Given the description of an element on the screen output the (x, y) to click on. 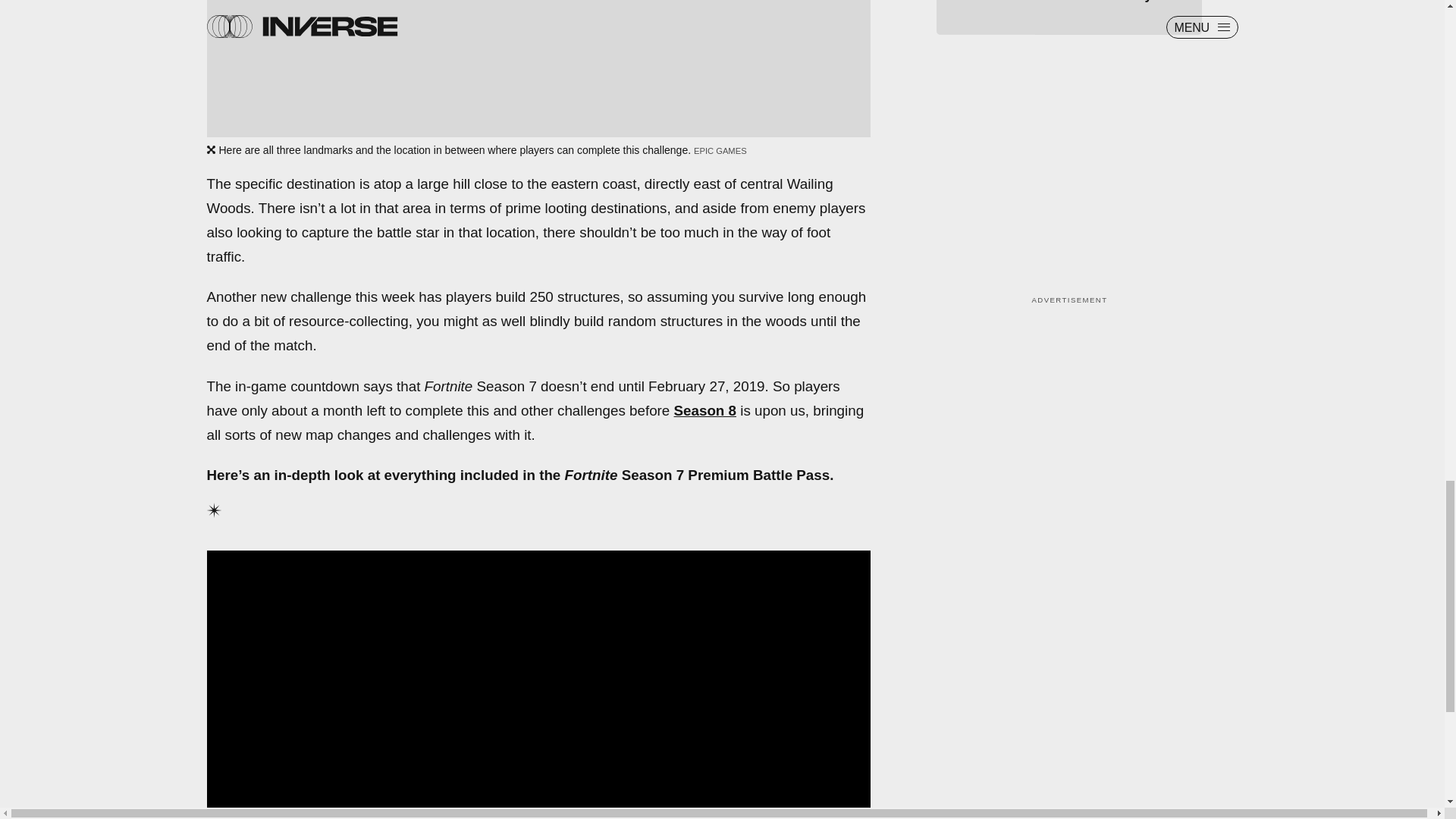
Season 8 (705, 410)
